Given the description of an element on the screen output the (x, y) to click on. 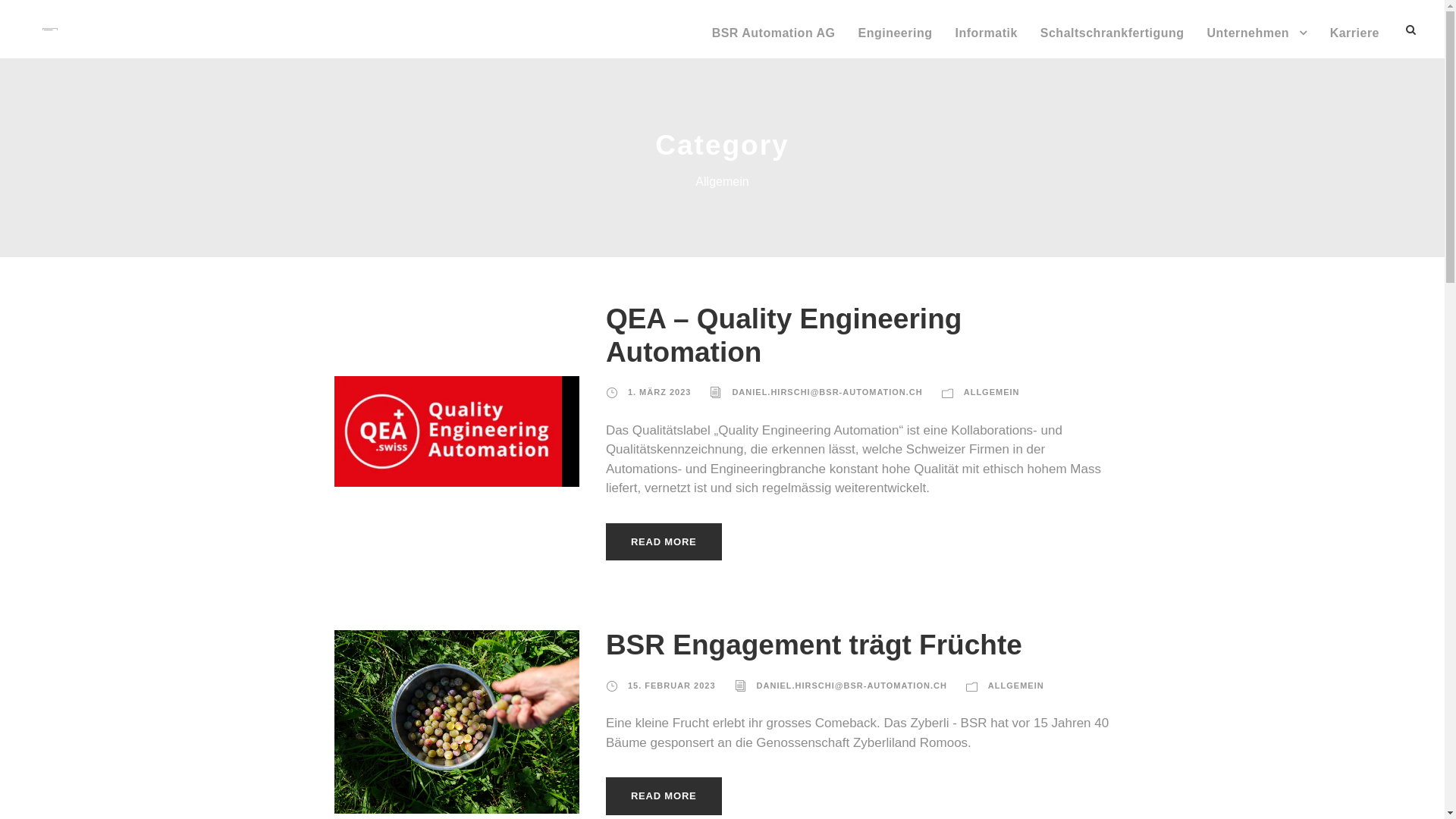
READ MORE Element type: text (663, 796)
DANIEL.HIRSCHI@BSR-AUTOMATION.CH Element type: text (826, 391)
15. FEBRUAR 2023 Element type: text (671, 685)
ALLGEMEIN Element type: text (991, 391)
Karriere Element type: text (1354, 40)
Informatik Element type: text (985, 40)
Unternehmen Element type: text (1257, 40)
Logo QEA Element type: hover (447, 431)
ALLGEMEIN Element type: text (1016, 685)
DANIEL.HIRSCHI@BSR-AUTOMATION.CH Element type: text (851, 685)
Engineering Element type: text (895, 40)
READ MORE Element type: text (663, 542)
BSR Automation AG Element type: text (773, 40)
Schaltschrankfertigung Element type: text (1112, 40)
